Given the description of an element on the screen output the (x, y) to click on. 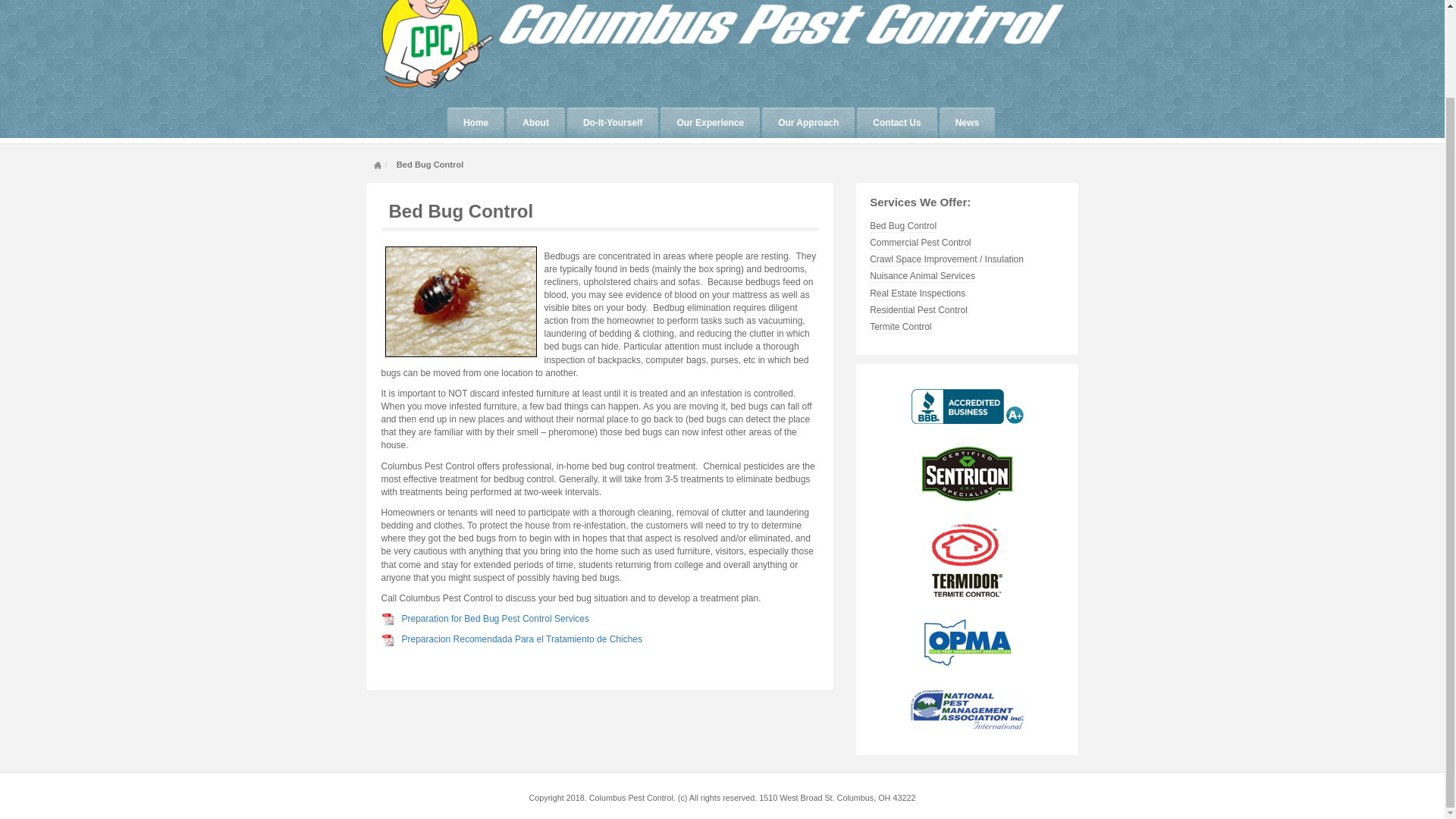
Our Approach (807, 122)
Termite Control (900, 327)
Nuisance Animal Services (922, 276)
Bed Bug Control (460, 209)
Bed Bug Control (460, 209)
Preparation for Bed Bug Pest Control Services (495, 618)
Home (474, 122)
Preparacion Recomendada Para el Tratamiento de Chiches (522, 638)
About (535, 122)
Real Estate Inspections (917, 293)
